Given the description of an element on the screen output the (x, y) to click on. 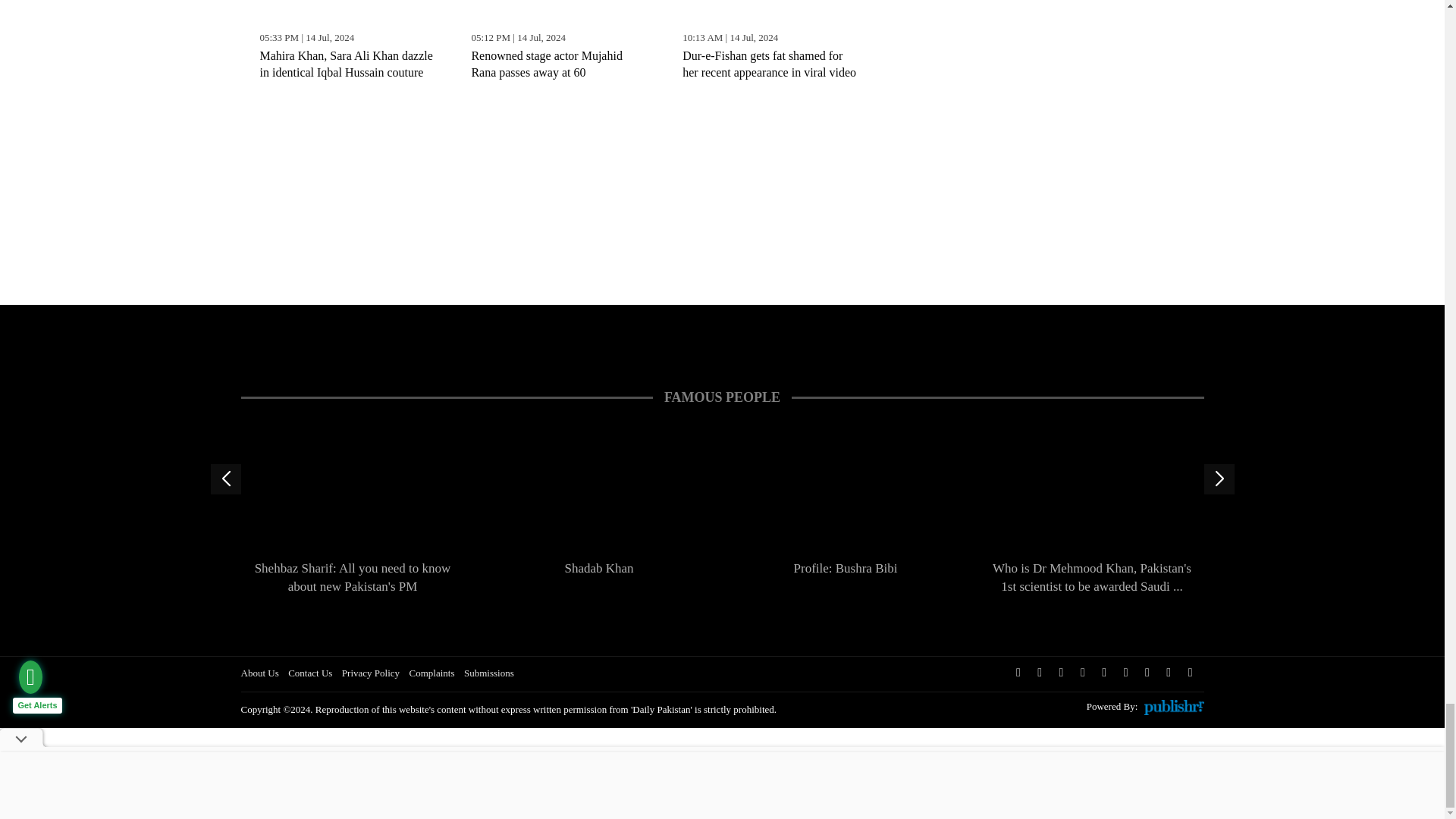
Renowned stage actor Mujahid Rana passes away at 60 (557, 12)
